Given the description of an element on the screen output the (x, y) to click on. 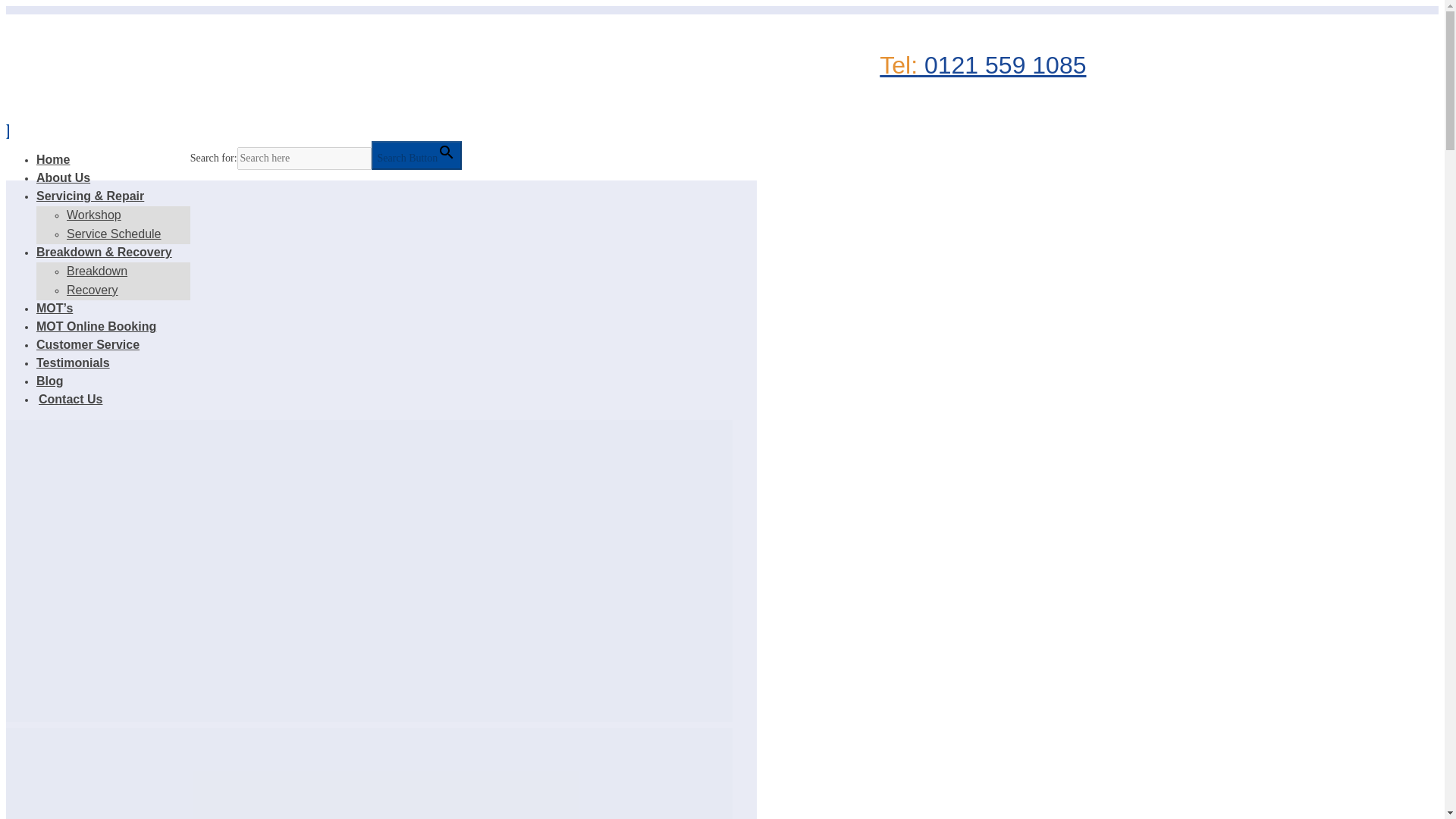
Recovery (91, 289)
Testimonials (82, 372)
Home (61, 169)
Tel: 0121 559 1085 (982, 64)
Breakdown (97, 270)
Blog (58, 390)
Customer Service (96, 354)
Contact Us (68, 399)
kissanef5 (368, 773)
Workshop (93, 214)
Service Schedule (113, 233)
About Us (71, 187)
MOT Online Booking (105, 336)
Search Button (417, 154)
